Given the description of an element on the screen output the (x, y) to click on. 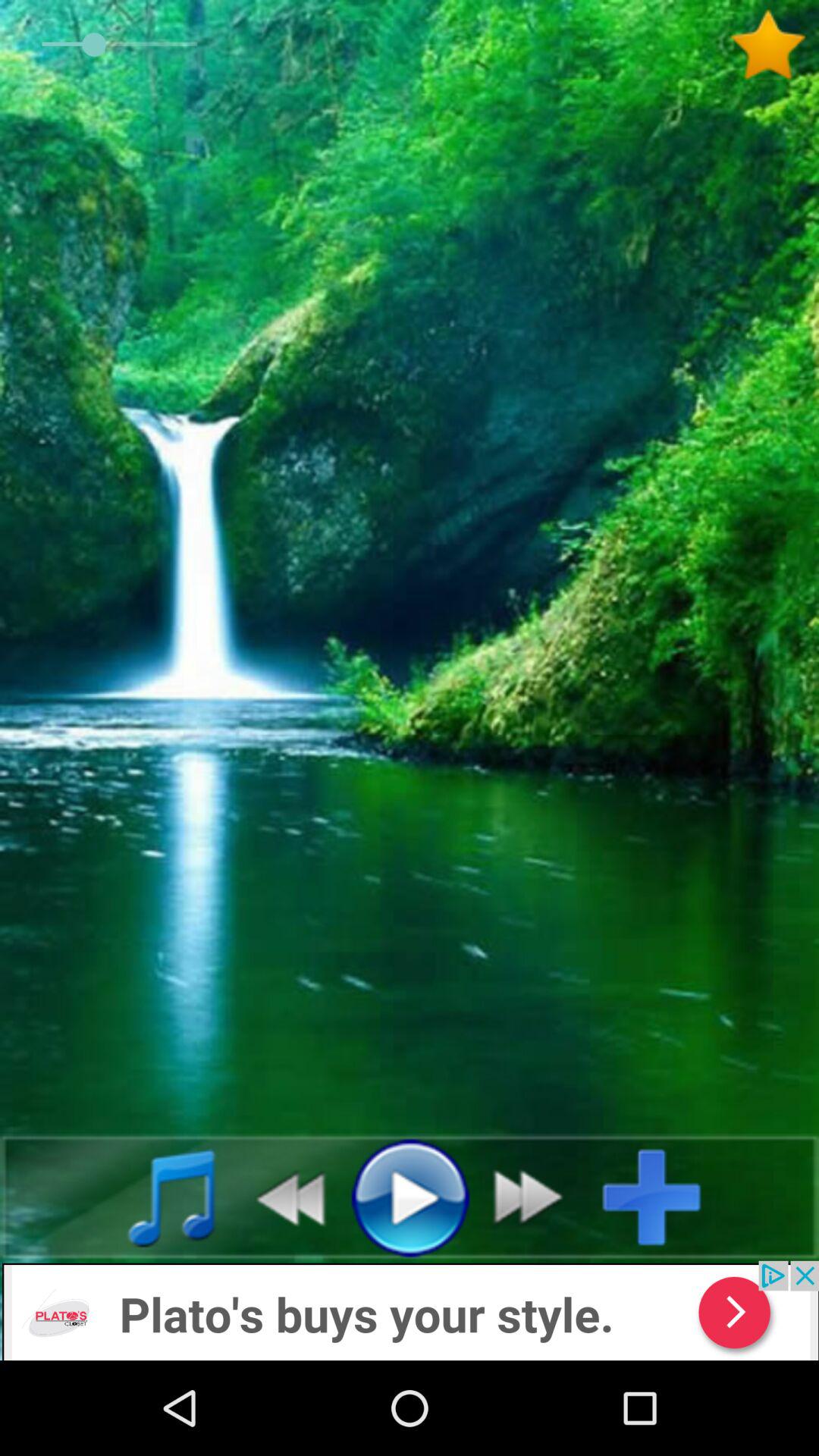
rewind (281, 1196)
